Given the description of an element on the screen output the (x, y) to click on. 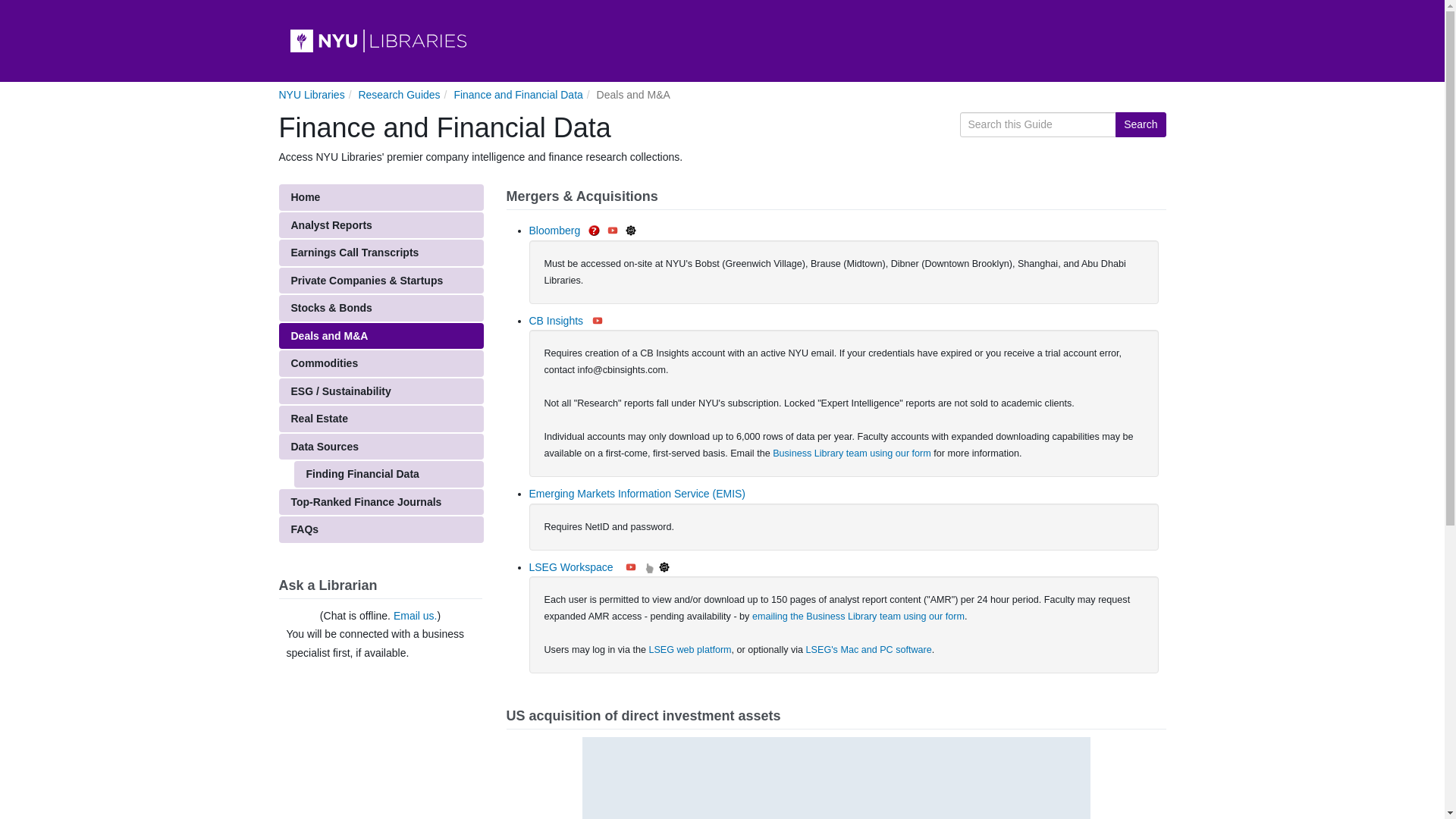
Search (1140, 124)
NYU Libraries Homepage (721, 40)
Top-Ranked Finance Journals (381, 501)
FAQs (381, 529)
LSEG Workspace (570, 567)
Research Guides (398, 94)
Bloomberg (554, 230)
Analyst Reports (381, 225)
Finance and Financial Data (517, 94)
Commodities (381, 363)
Email us. (415, 615)
NYU Libraries (312, 94)
Earnings Call Transcripts (381, 252)
CB Insights (556, 320)
